Given the description of an element on the screen output the (x, y) to click on. 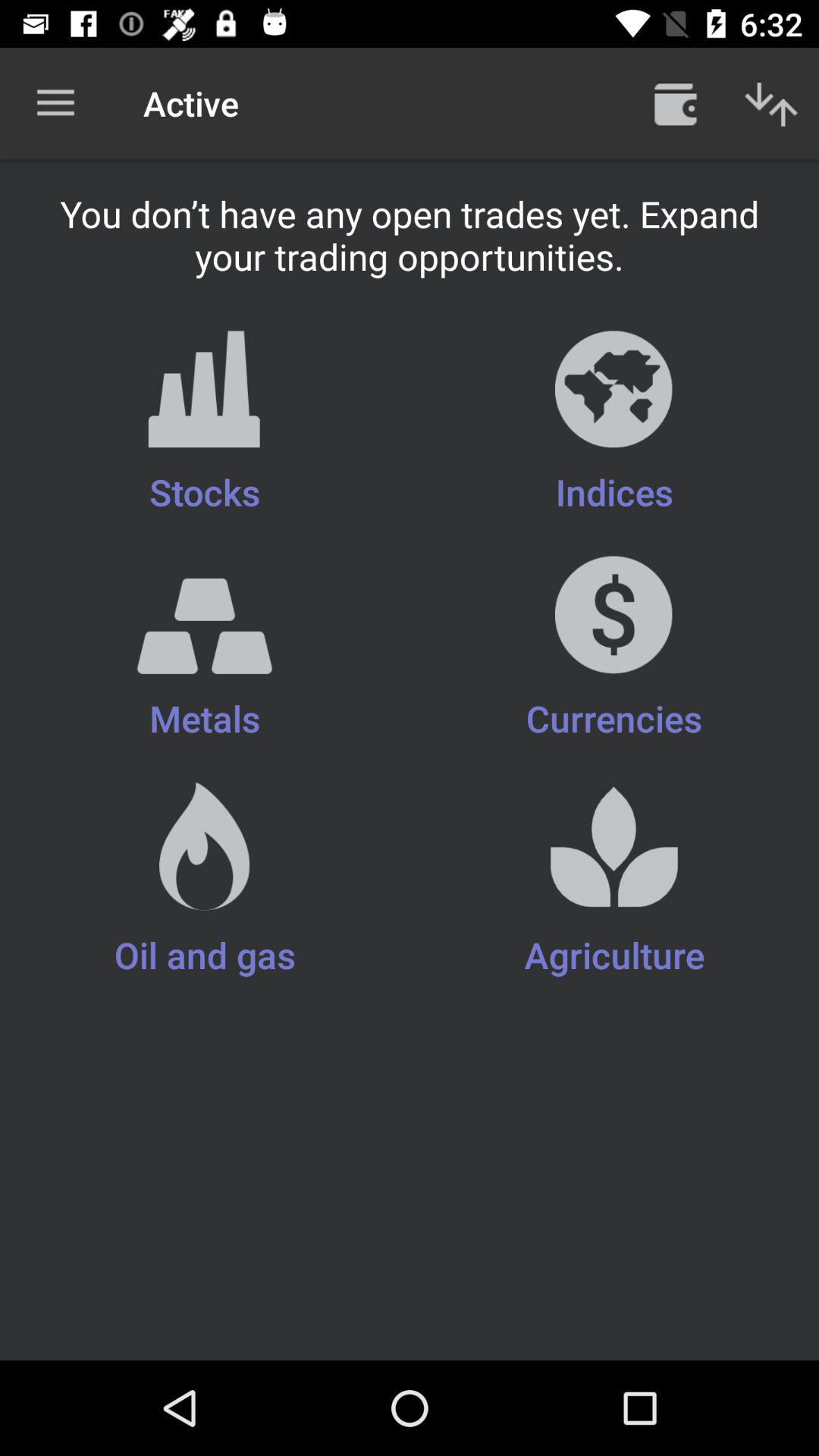
turn on the icon to the left of the currencies (204, 880)
